Given the description of an element on the screen output the (x, y) to click on. 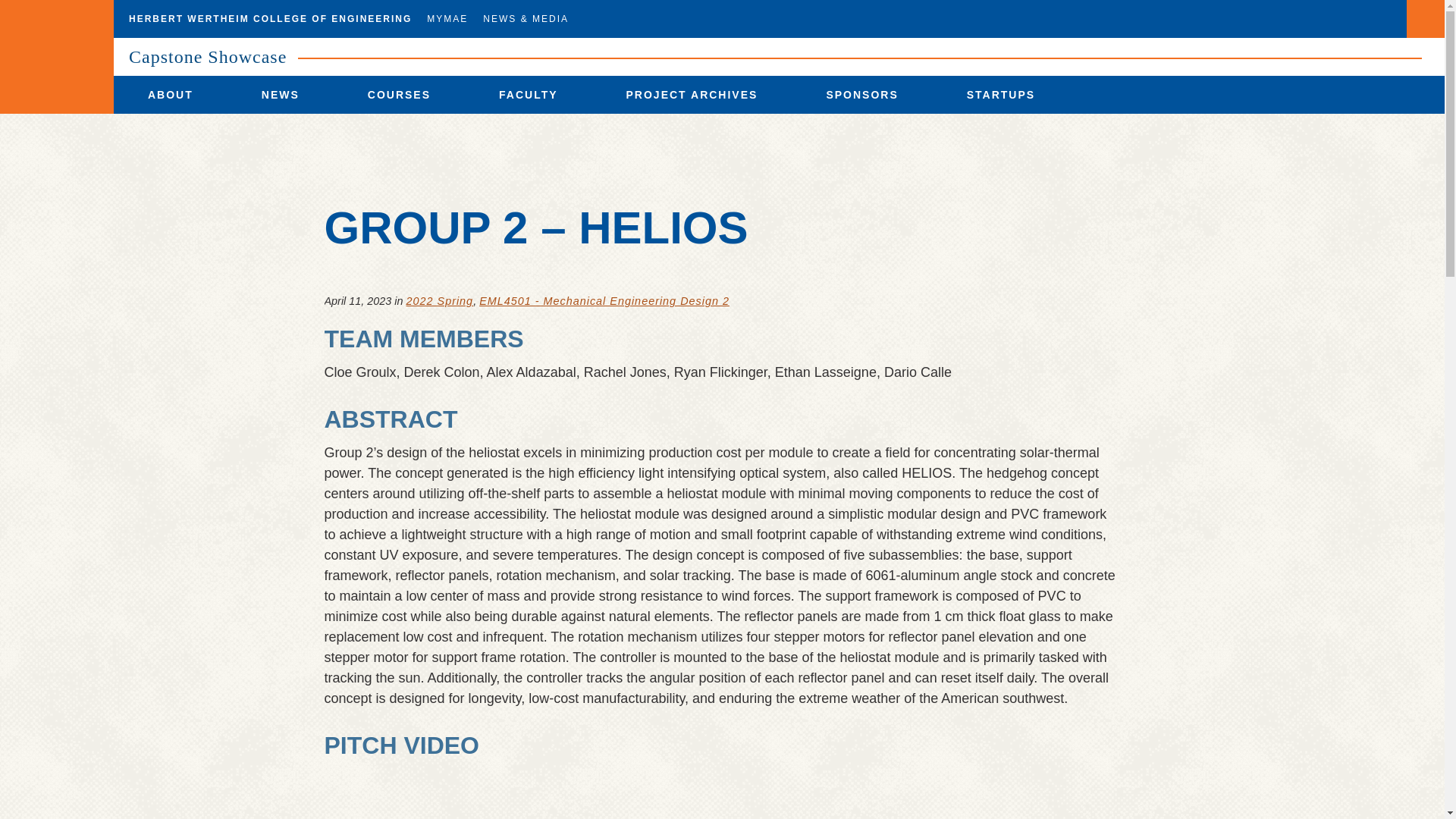
ABOUT (170, 94)
2022 Spring (440, 300)
EML4501 - Mechanical Engineering Design 2 (604, 300)
PROJECT ARCHIVES (692, 94)
2022 Spring EML4501 Group 02 - 90-second Pitch.mp4 (722, 794)
Capstone Showcase (207, 56)
NEWS (280, 94)
STARTUPS (1000, 94)
FACULTY (528, 94)
SPONSORS (861, 94)
University of Florida (56, 56)
HERBERT WERTHEIM COLLEGE OF ENGINEERING (269, 18)
COURSES (398, 94)
MYMAE (447, 18)
